Given the description of an element on the screen output the (x, y) to click on. 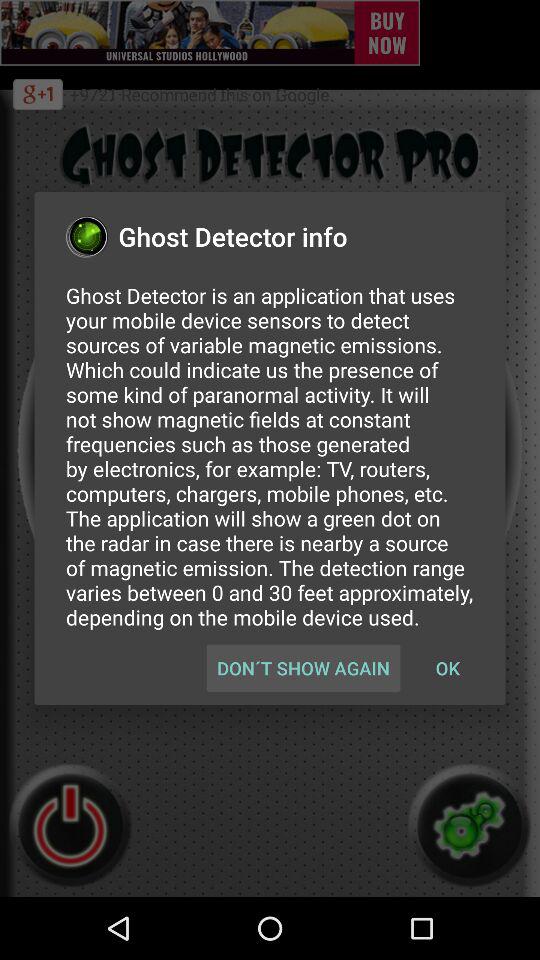
tap the icon next to ok button (303, 667)
